Given the description of an element on the screen output the (x, y) to click on. 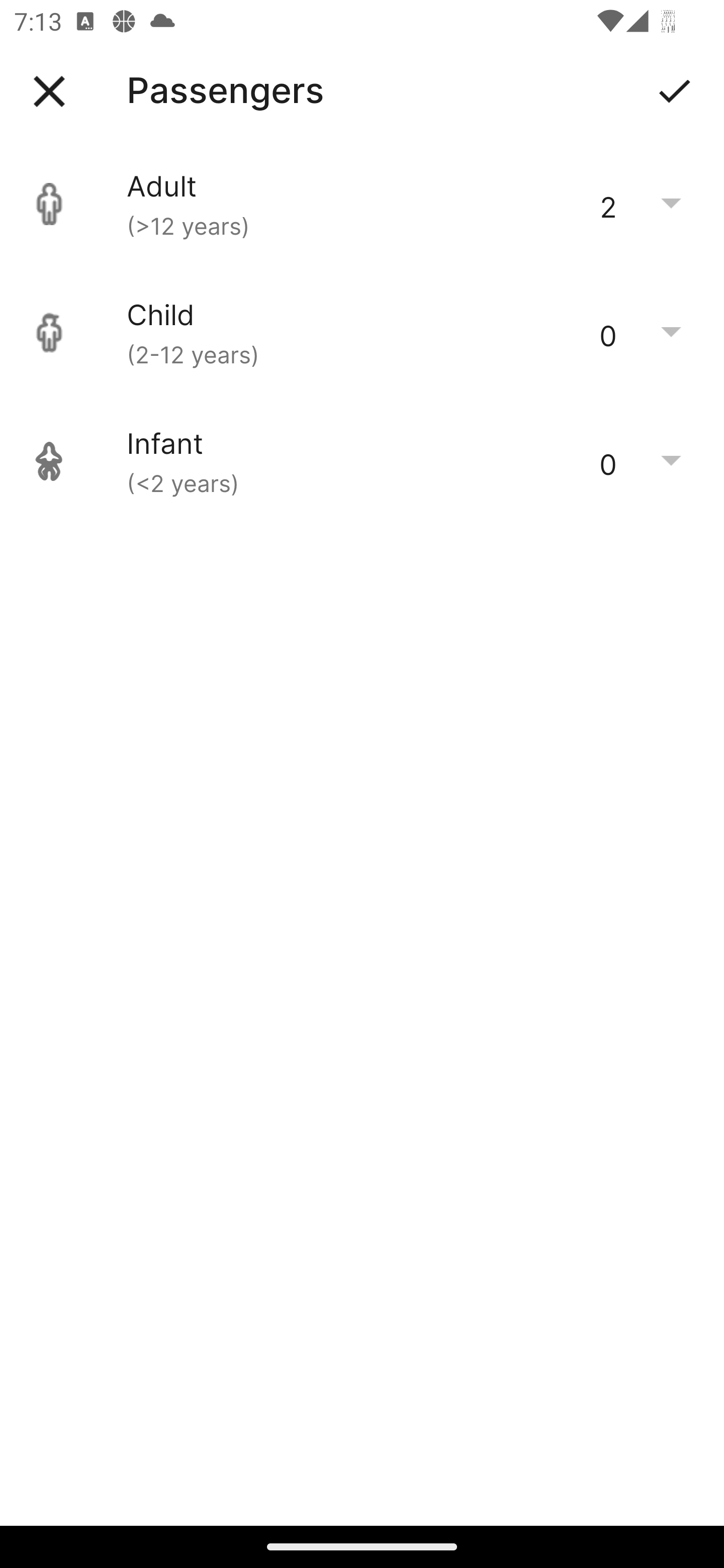
Adult (>12 years) 2 (362, 204)
Child (2-12 years) 0 (362, 332)
Infant (<2 years) 0 (362, 461)
